Given the description of an element on the screen output the (x, y) to click on. 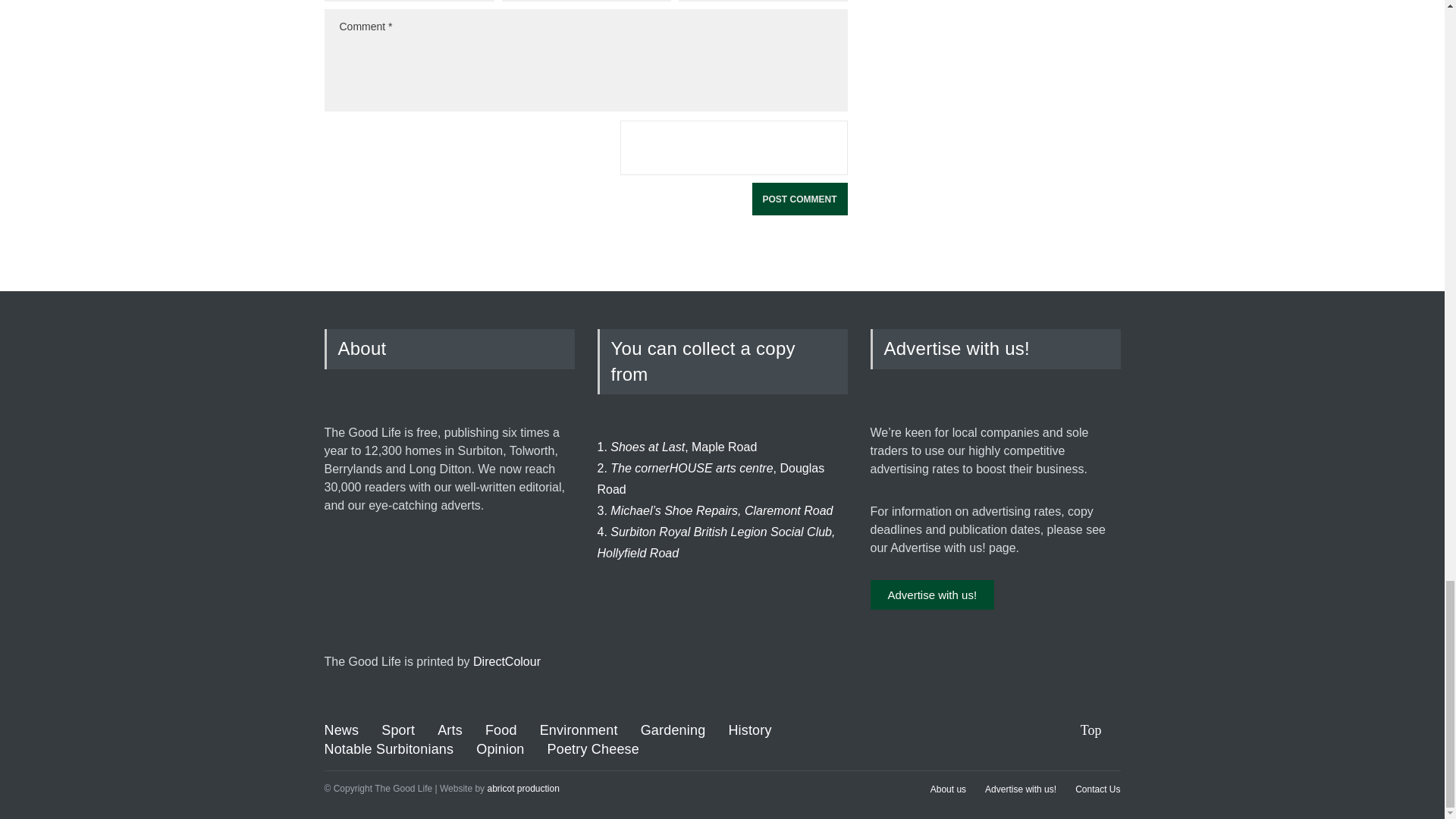
POST COMMENT (799, 198)
Top (1100, 730)
